Given the description of an element on the screen output the (x, y) to click on. 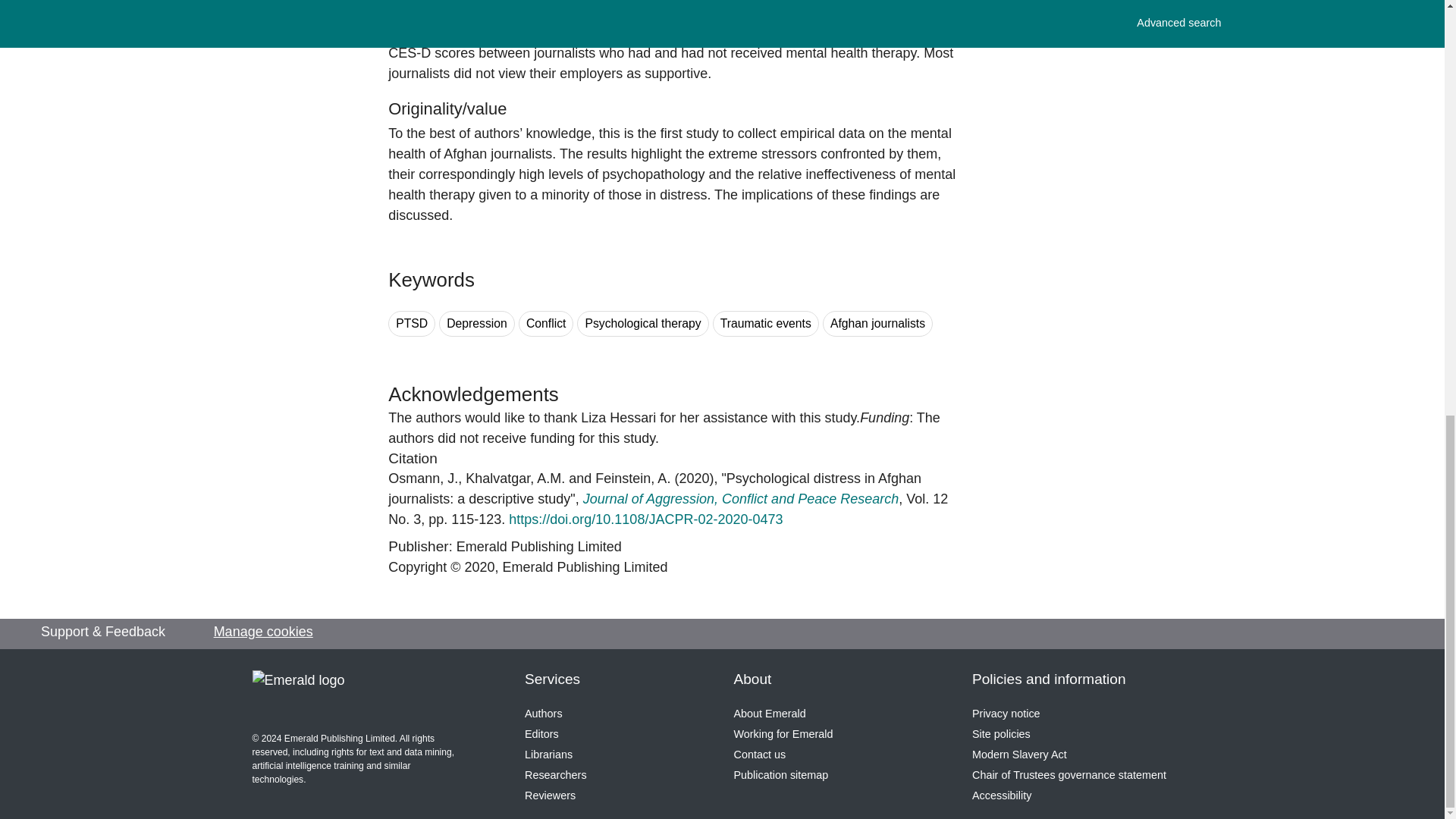
Journal of Aggression, Conflict and Peace Research (741, 498)
Librarians (548, 754)
Psychological therapy (641, 324)
Search for keyword Conflict (545, 324)
PTSD (411, 324)
Khalvatgar, A.M. (514, 478)
Afghan journalists (877, 324)
Authors (543, 713)
Abdul Mujeeb Khalvatgar (514, 478)
Manage cookies (263, 631)
